Given the description of an element on the screen output the (x, y) to click on. 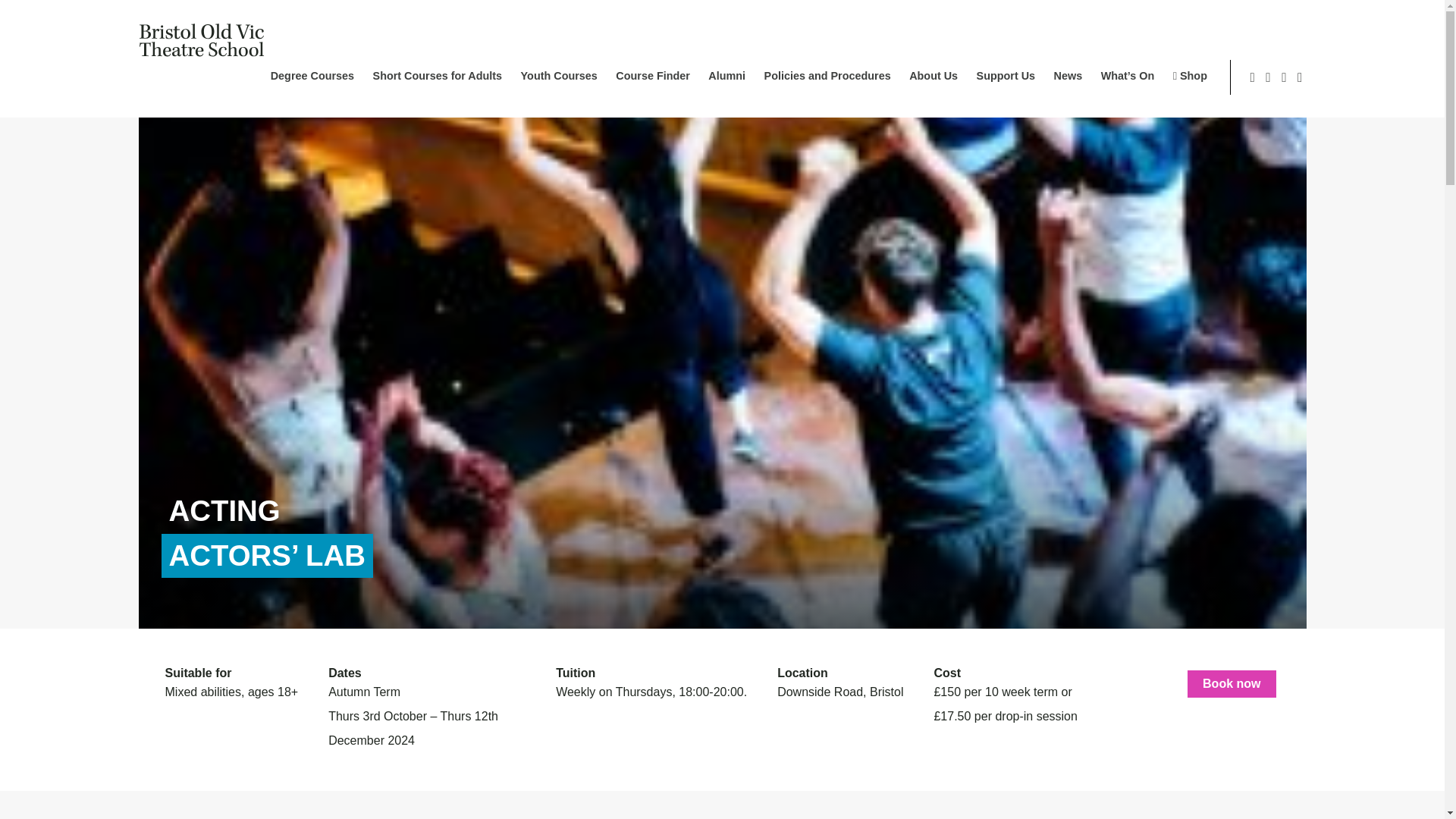
Support Us (1005, 75)
Policies and Procedures (827, 75)
News (1068, 75)
Degree Courses (311, 75)
Course Finder (652, 75)
Alumni (726, 75)
About Us (933, 75)
Book now (1231, 683)
Youth Courses (558, 75)
Short Courses for Adults (437, 75)
